Given the description of an element on the screen output the (x, y) to click on. 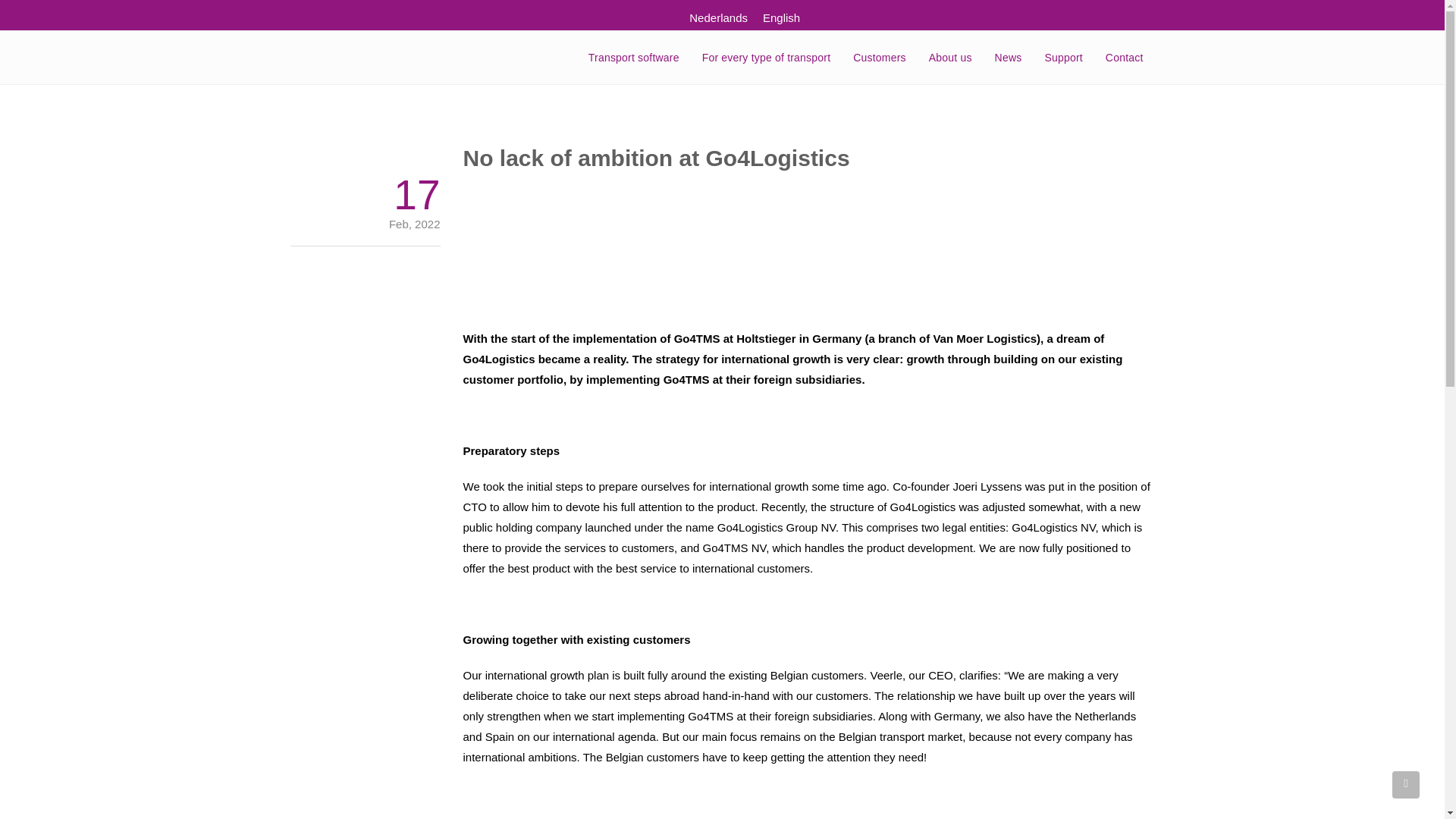
For every type of transport (766, 57)
News (1008, 57)
Nederlands (718, 16)
Support (1062, 57)
Transport software (633, 57)
English (781, 16)
Contact (1124, 57)
About us (950, 57)
Customers (879, 57)
